Given the description of an element on the screen output the (x, y) to click on. 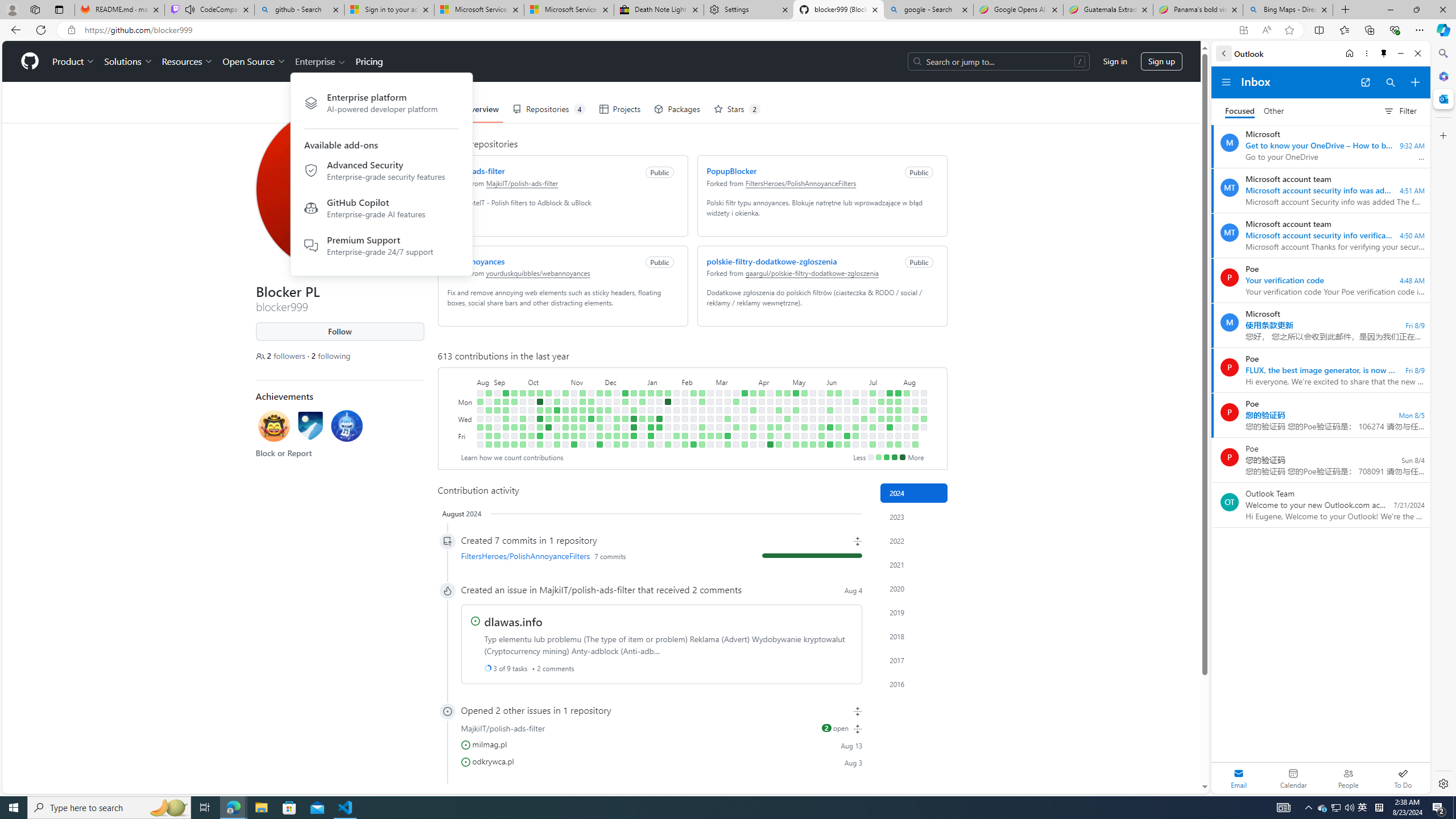
No contributions on September 7th. (496, 427)
GitHub CopilotEnterprise-grade AI features (381, 209)
2 contributions on April 28th. (786, 392)
No contributions on March 7th. (718, 427)
No contributions on October 16th. (547, 401)
No contributions on September 26th. (522, 410)
No contributions on April 24th. (777, 418)
No contributions on April 12th. (761, 435)
No contributions on May 22nd. (812, 418)
Repositories 4 (548, 108)
Restore (1416, 9)
No contributions on January 8th. (650, 401)
Side bar (1443, 418)
3 contributions on June 27th. (855, 427)
1 contribution on February 9th. (684, 435)
